Given the description of an element on the screen output the (x, y) to click on. 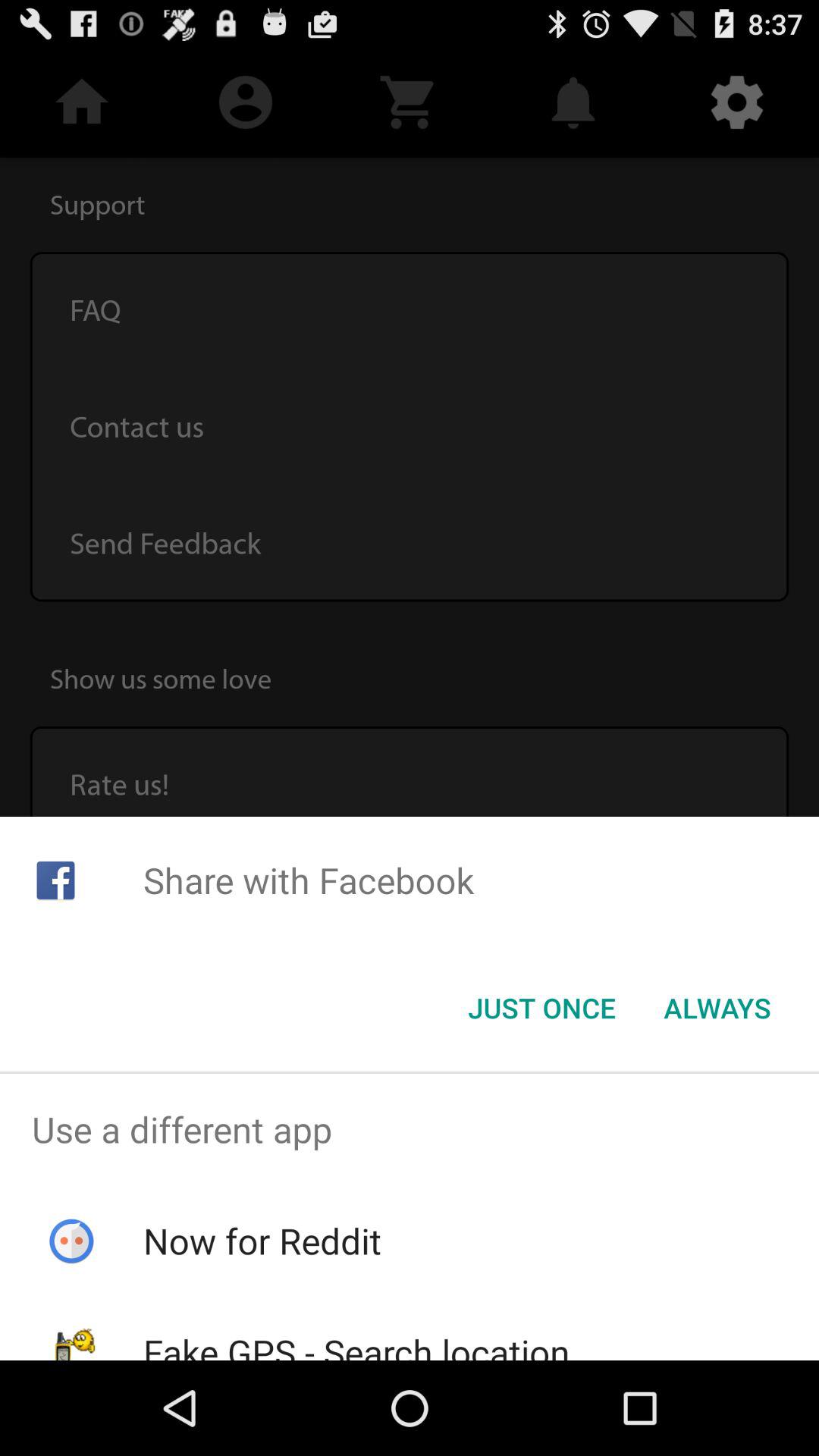
press item next to just once item (717, 1007)
